Given the description of an element on the screen output the (x, y) to click on. 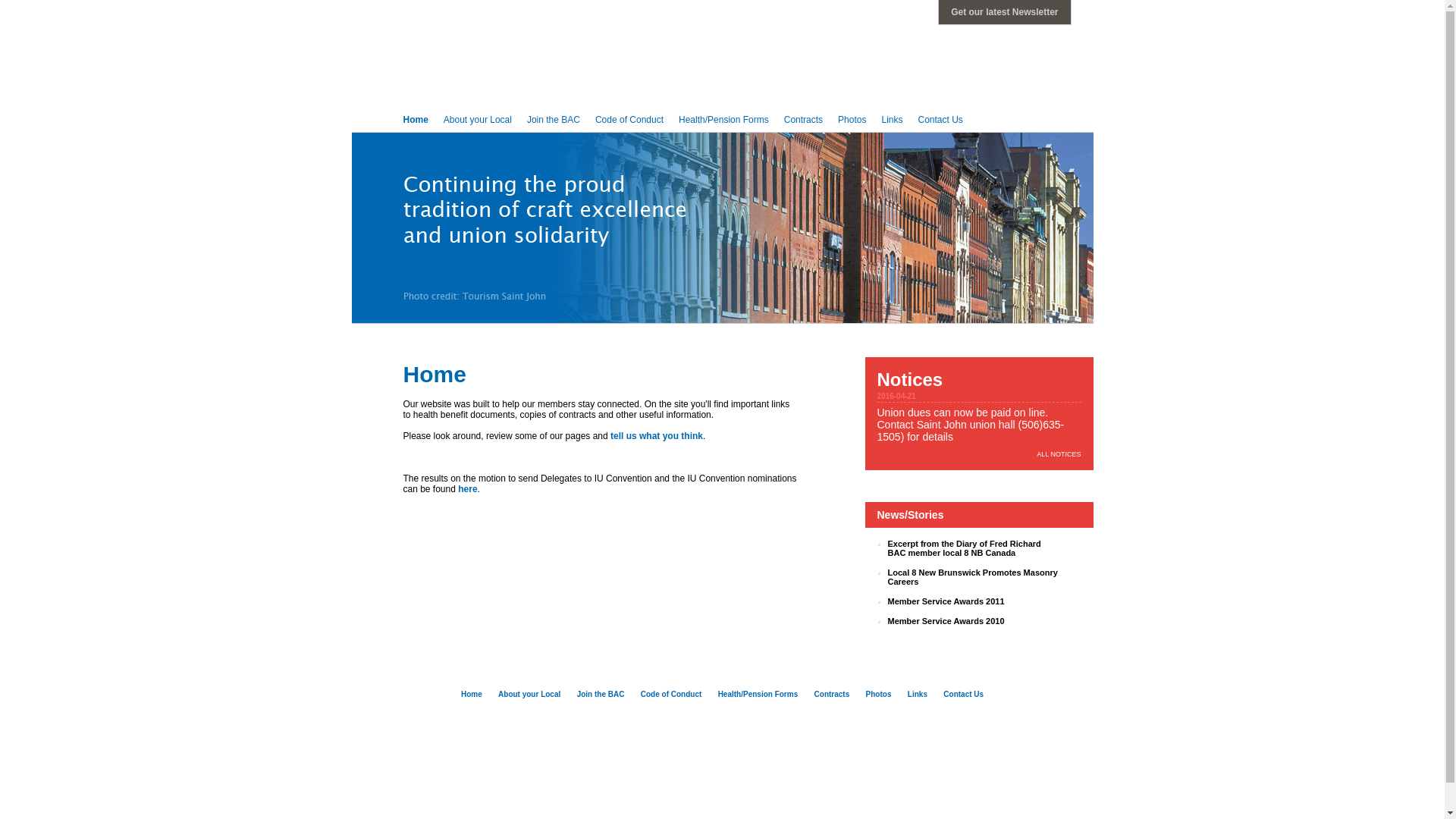
About your Local Element type: text (477, 119)
Home Element type: text (415, 119)
Health/Pension Forms Element type: text (723, 119)
Local 8 New Brunswick Promotes Masonry Careers Element type: text (972, 576)
Home Element type: text (471, 694)
Links Element type: text (917, 694)
Contact Us Element type: text (939, 119)
About your Local Element type: text (529, 694)
Member Service Awards 2011 Element type: text (945, 600)
Photos Element type: text (851, 119)
Contracts Element type: text (832, 694)
ALL NOTICES Element type: text (1058, 454)
Contact Us Element type: text (963, 694)
Code of Conduct Element type: text (671, 694)
Member Service Awards 2010 Element type: text (945, 620)
Photos Element type: text (878, 694)
Code of Conduct Element type: text (629, 119)
Join the BAC Element type: text (600, 694)
Links Element type: text (891, 119)
Join the BAC Element type: text (553, 119)
here Element type: text (467, 488)
tell us what you think Element type: text (656, 435)
Get our latest Newsletter Element type: text (1004, 12)
Contracts Element type: text (803, 119)
Health/Pension Forms Element type: text (758, 694)
